Given the description of an element on the screen output the (x, y) to click on. 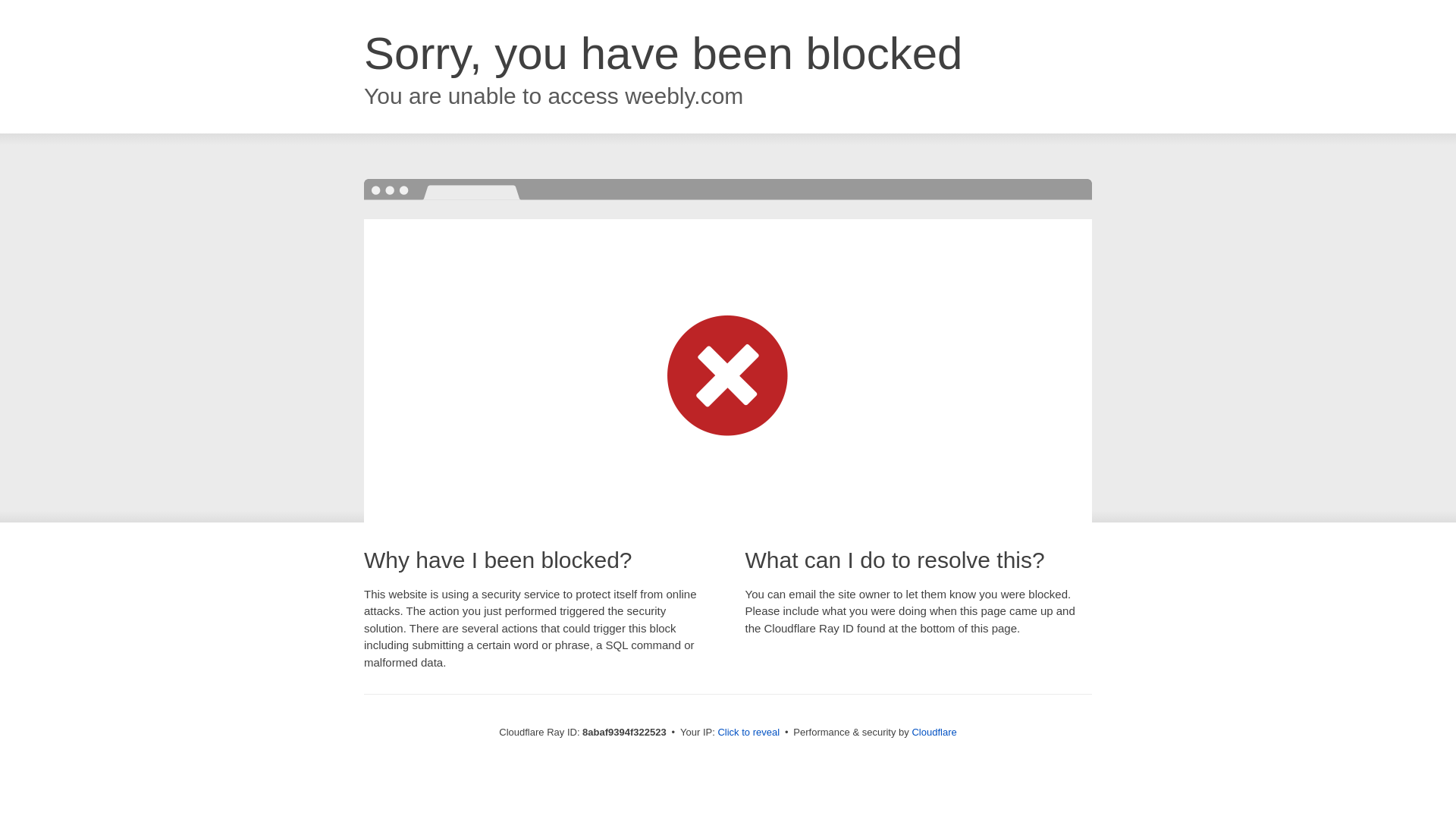
Click to reveal (747, 732)
Cloudflare (933, 731)
